Given the description of an element on the screen output the (x, y) to click on. 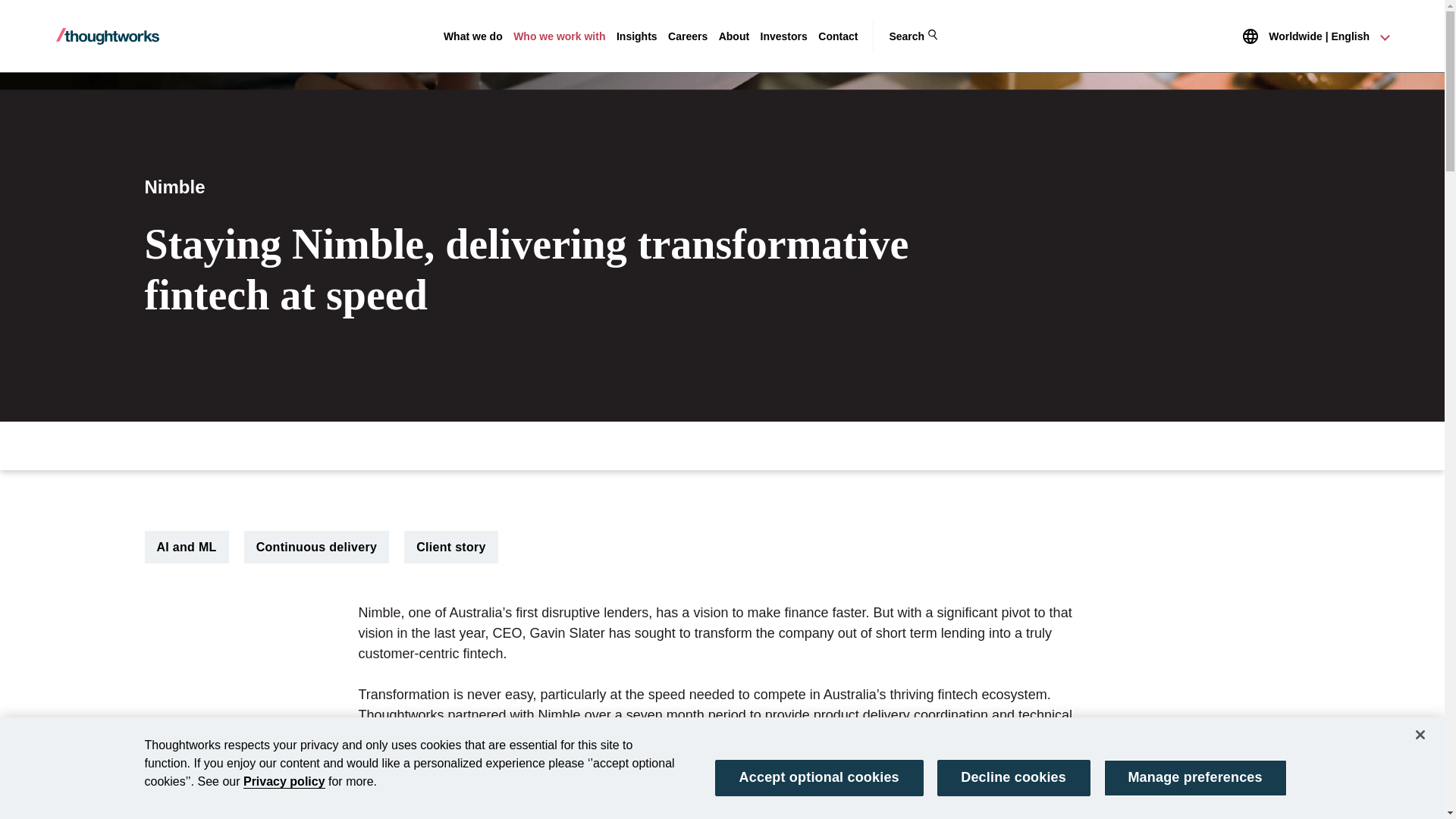
Thoughtworks (107, 36)
Careers (687, 36)
Who we work with (559, 36)
Careers (687, 36)
Insights (636, 36)
Who we work with (559, 36)
What we do (473, 36)
Thoughtworks (107, 36)
Insights (636, 36)
What we do (473, 36)
